Given the description of an element on the screen output the (x, y) to click on. 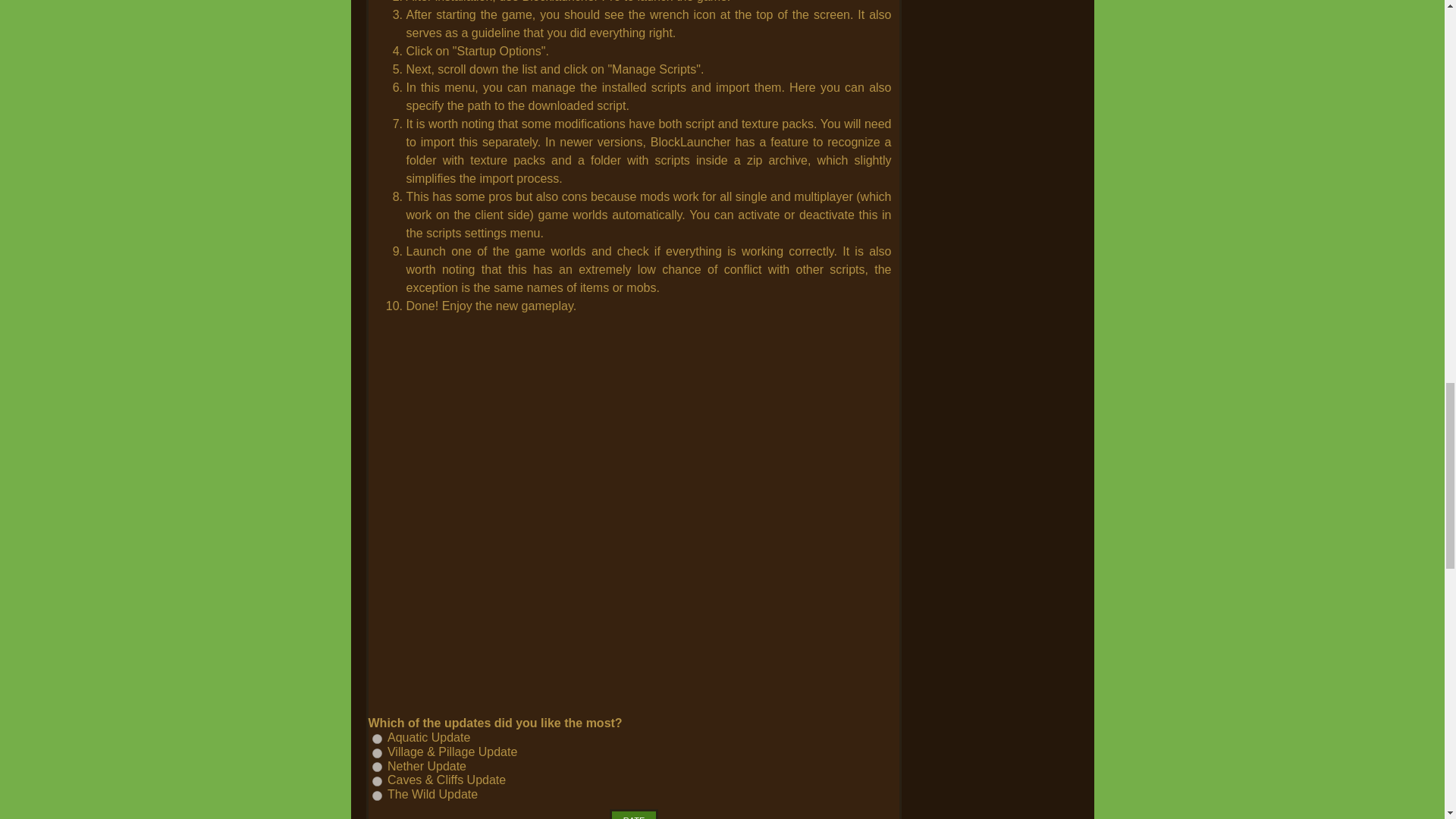
2 (376, 753)
5 (376, 795)
Rate (634, 814)
1 (376, 738)
3 (376, 767)
4 (376, 781)
